Given the description of an element on the screen output the (x, y) to click on. 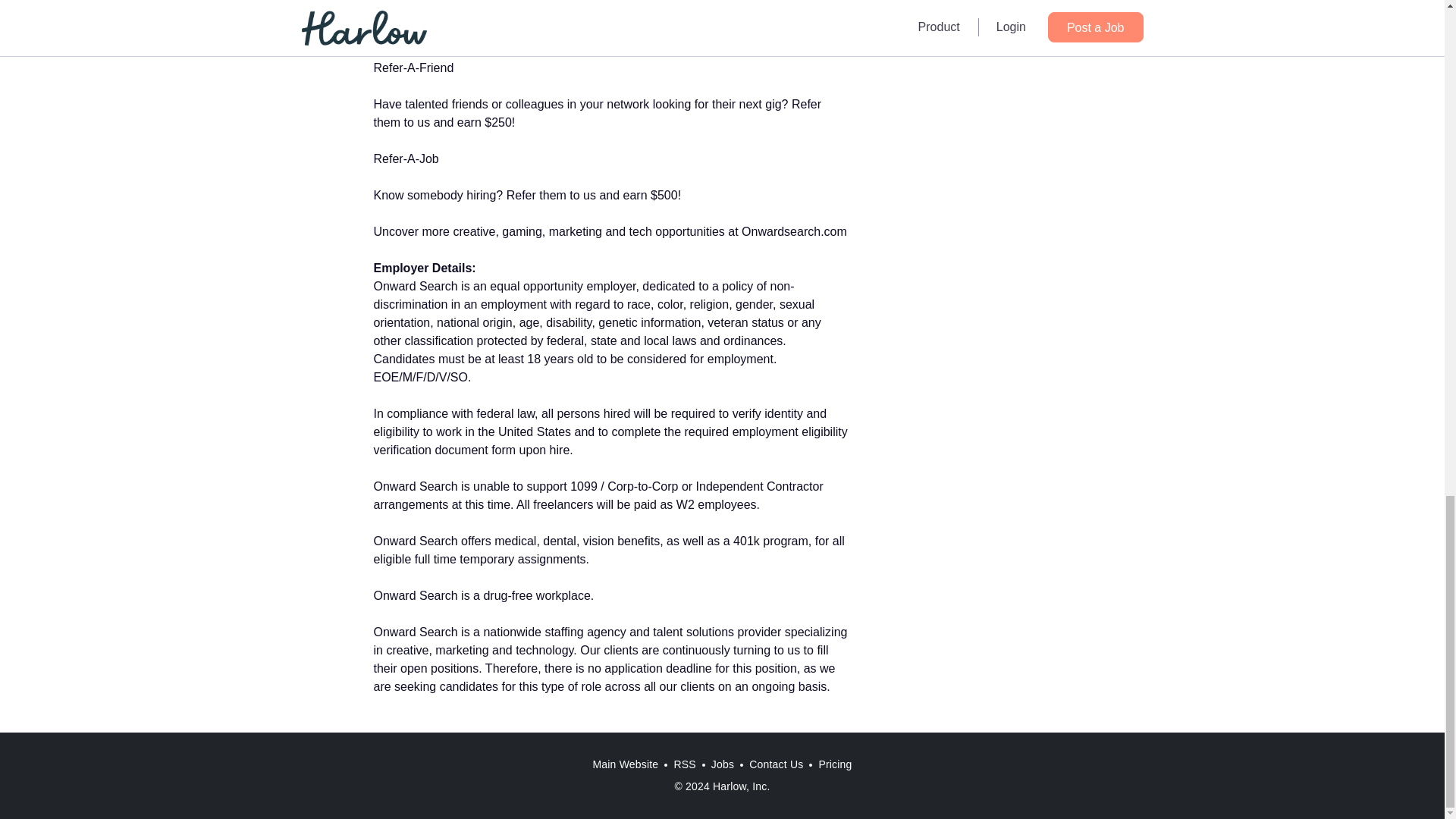
Pricing (834, 764)
Contact Us (775, 764)
RSS (684, 764)
Jobs (722, 764)
Main Website (625, 764)
